Given the description of an element on the screen output the (x, y) to click on. 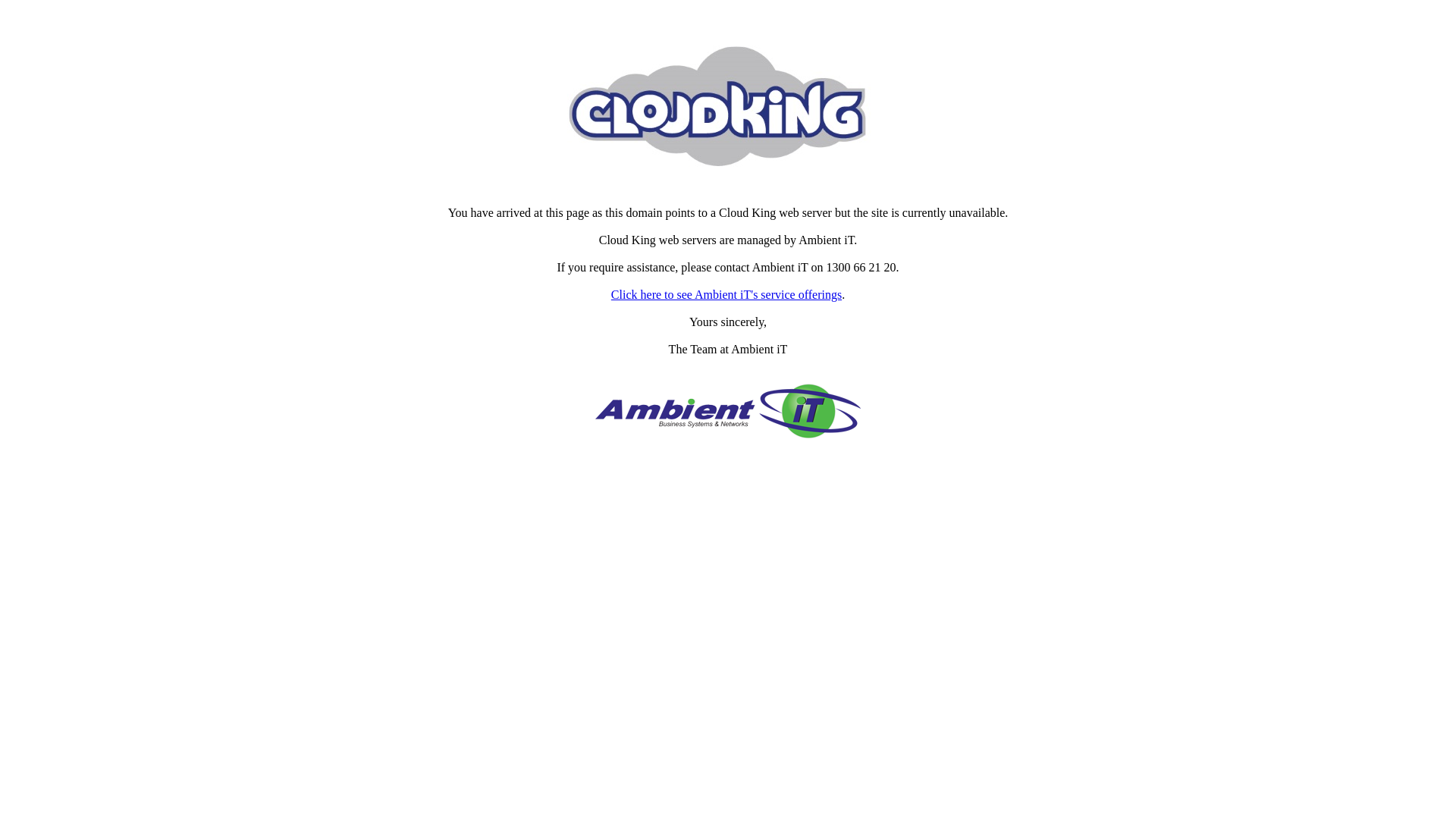
Click here to see Ambient iT's service offerings Element type: text (726, 294)
